Given the description of an element on the screen output the (x, y) to click on. 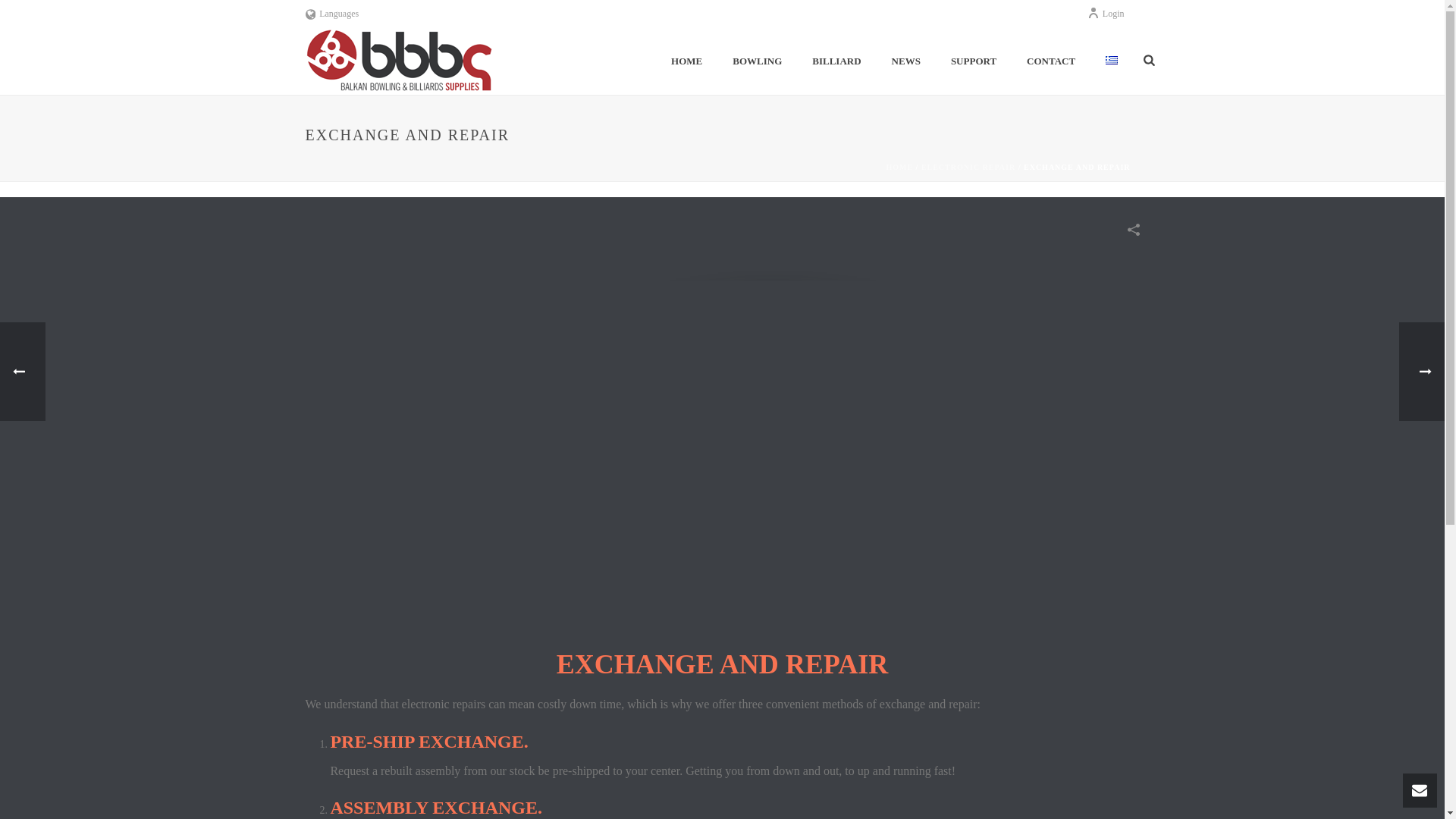
BOWLING (756, 61)
NEWS (906, 61)
Brunswick (399, 60)
Login (1105, 13)
SUPPORT (973, 61)
BILLIARD (836, 61)
HOME (686, 61)
HOME (686, 61)
BILLIARD (836, 61)
